Given the description of an element on the screen output the (x, y) to click on. 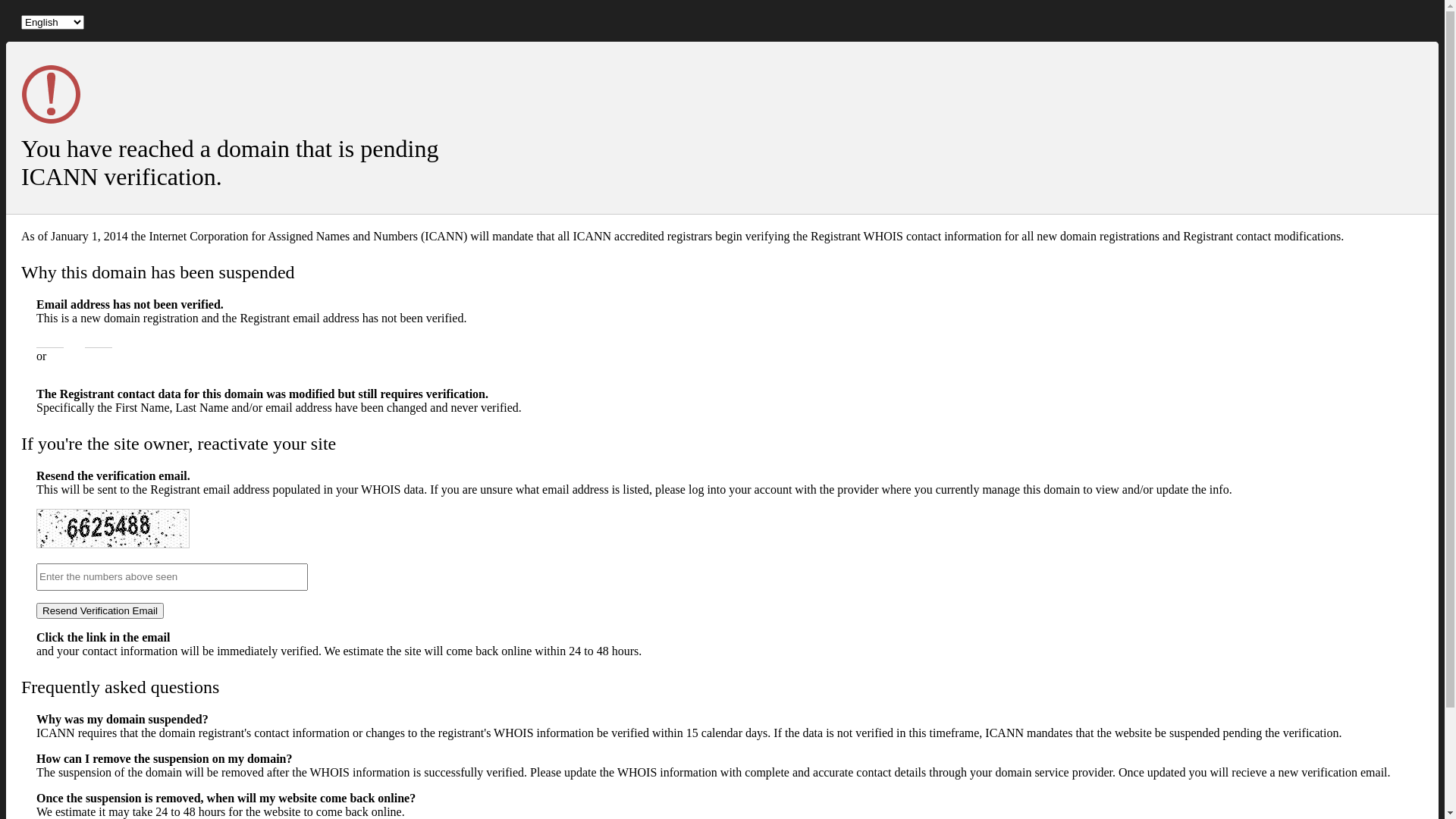
Resend Verification Email Element type: text (99, 610)
